Given the description of an element on the screen output the (x, y) to click on. 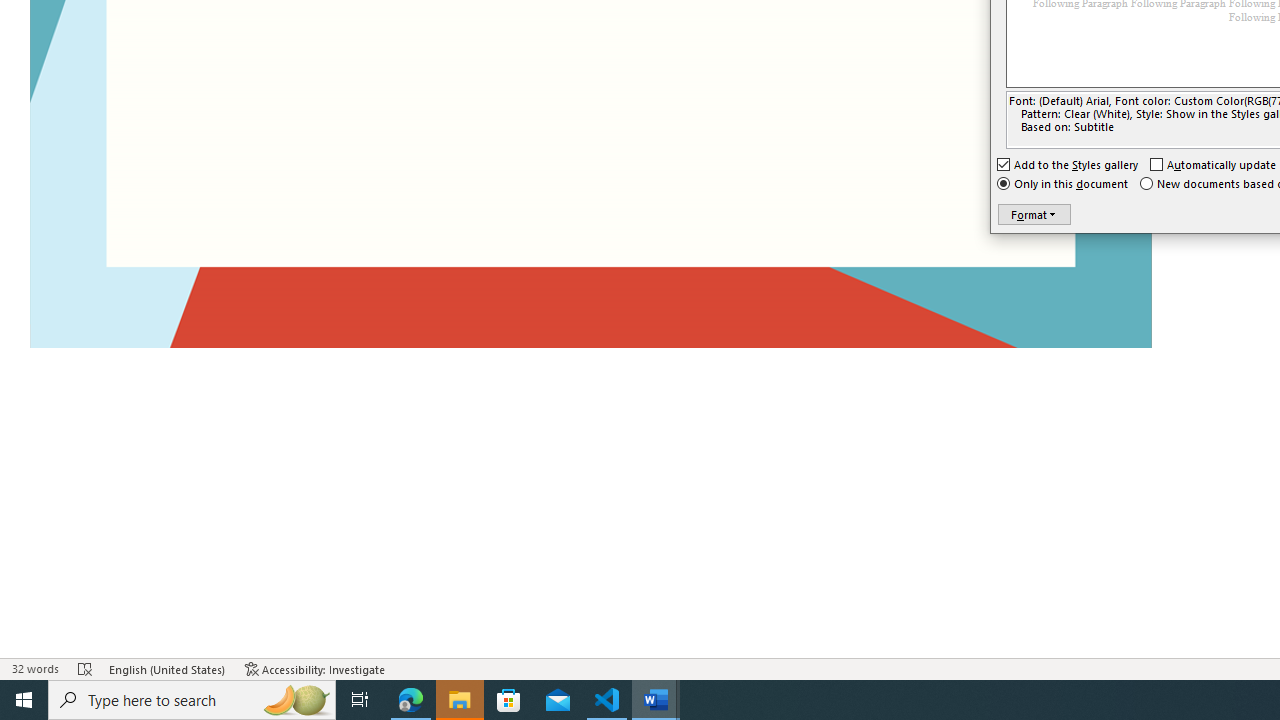
Task View (359, 699)
File Explorer - 1 running window (460, 699)
Type here to search (191, 699)
Microsoft Store (509, 699)
Start (24, 699)
MSO Generic Control Container (1034, 214)
Only in this document (1064, 183)
Visual Studio Code - 1 running window (607, 699)
Spelling and Grammar Check Errors (86, 668)
Automatically update (1213, 164)
Word - 2 running windows (656, 699)
Word Count 32 words (34, 668)
